Given the description of an element on the screen output the (x, y) to click on. 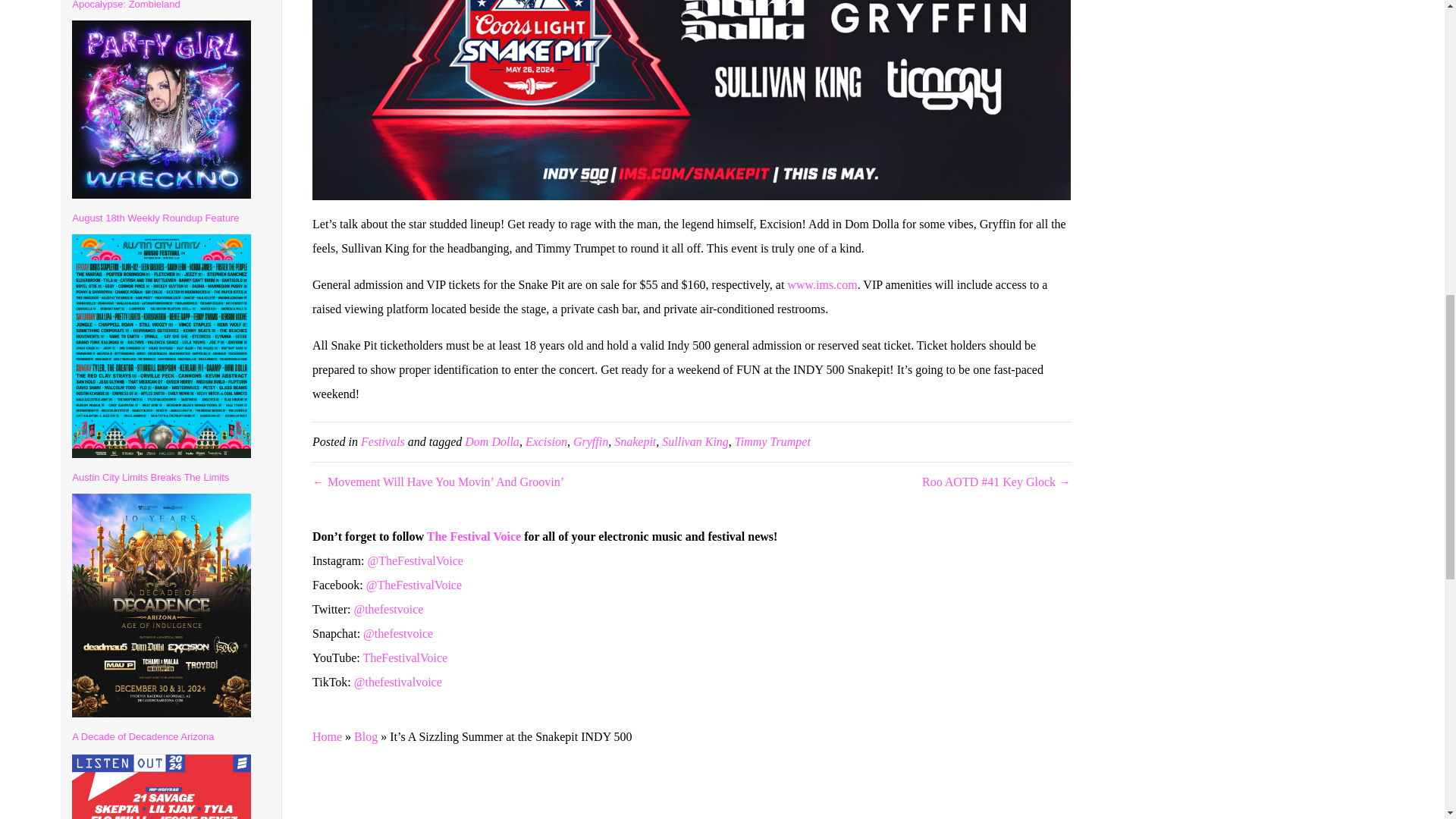
Gryffin (590, 440)
Excision (546, 440)
A Decade of Decadence Arizona (142, 736)
Festivals (382, 440)
Snakepit (635, 440)
August 18th Weekly Roundup Feature (154, 217)
www.ims.com (822, 284)
Austin City Limits Breaks The Limits (149, 477)
Dom Dolla (491, 440)
